Given the description of an element on the screen output the (x, y) to click on. 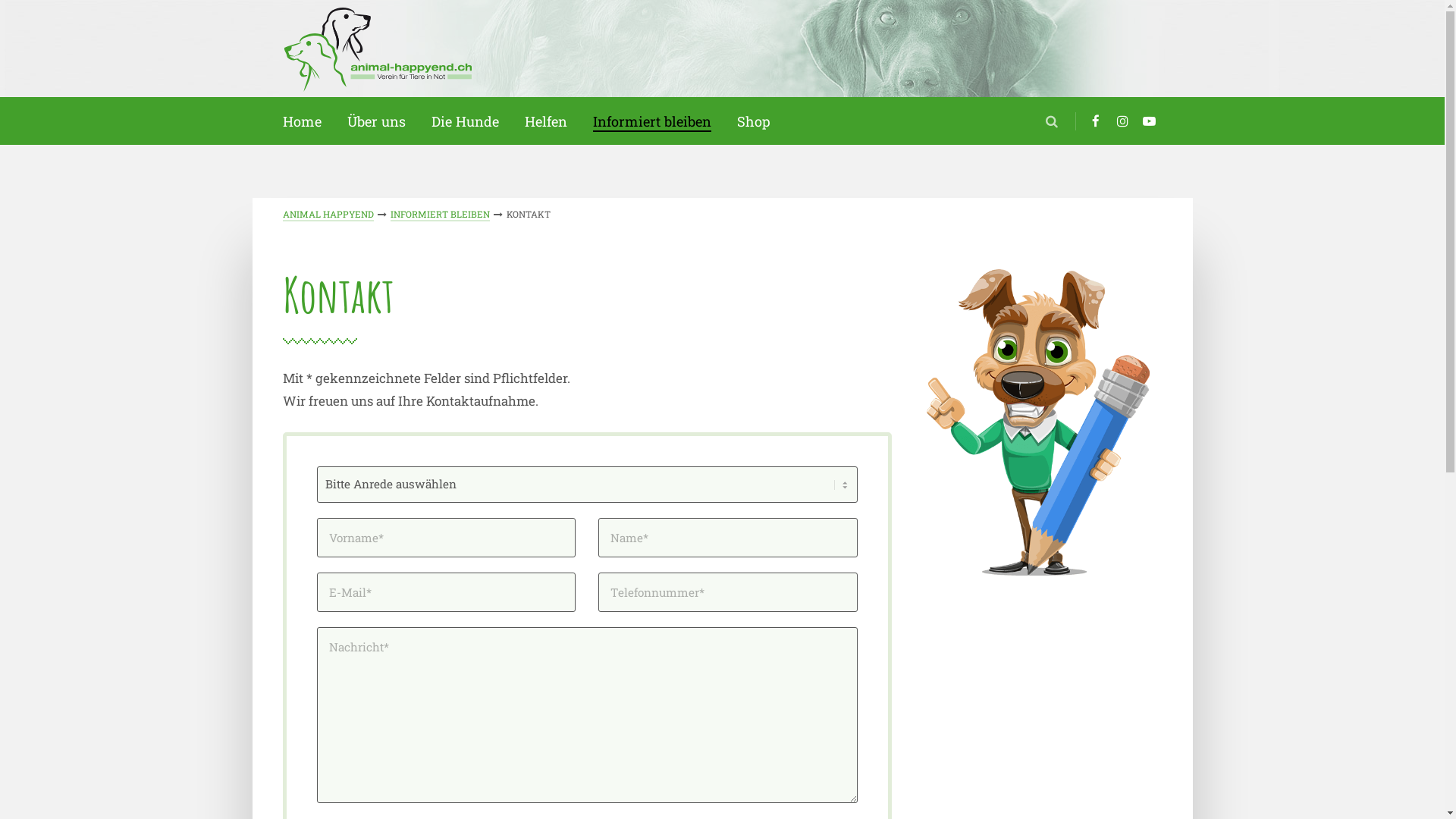
Die Hunde Element type: text (464, 121)
INFORMIERT BLEIBEN Element type: text (439, 214)
Informiert bleiben Element type: text (652, 121)
Helfen Element type: text (545, 121)
KONTAKT Element type: text (528, 213)
ANIMAL HAPPYEND Element type: text (327, 214)
Home Element type: text (301, 121)
Shop Element type: text (753, 121)
